Given the description of an element on the screen output the (x, y) to click on. 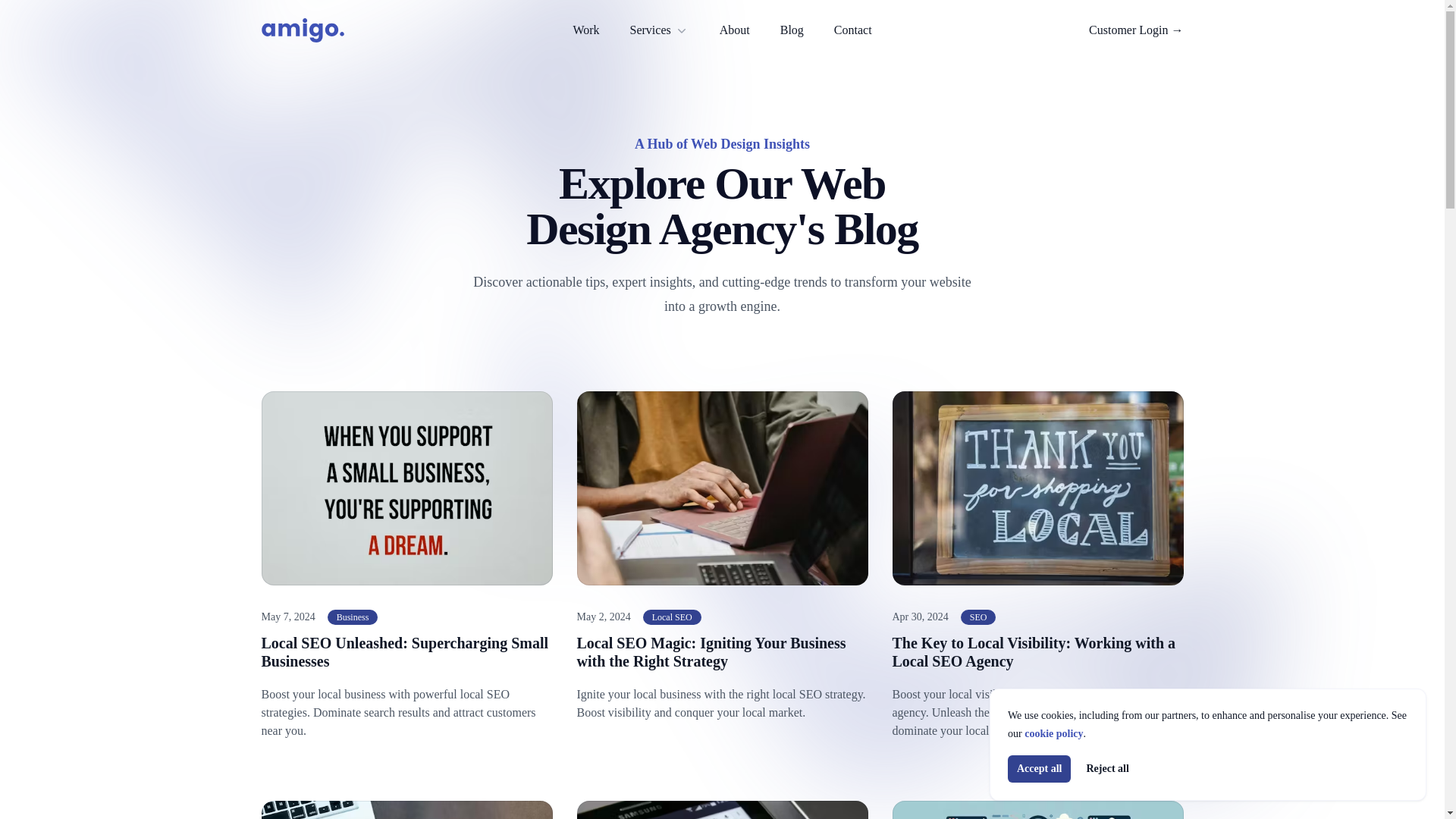
Local SEO Unleashed: Supercharging Small Businesses (404, 651)
SEO (977, 616)
Business (352, 616)
Local SEO (672, 616)
The Key to Local Visibility: Working with a Local SEO Agency (1032, 651)
About (734, 30)
Work (585, 30)
Contact (853, 30)
Amigo Studios (301, 29)
